Given the description of an element on the screen output the (x, y) to click on. 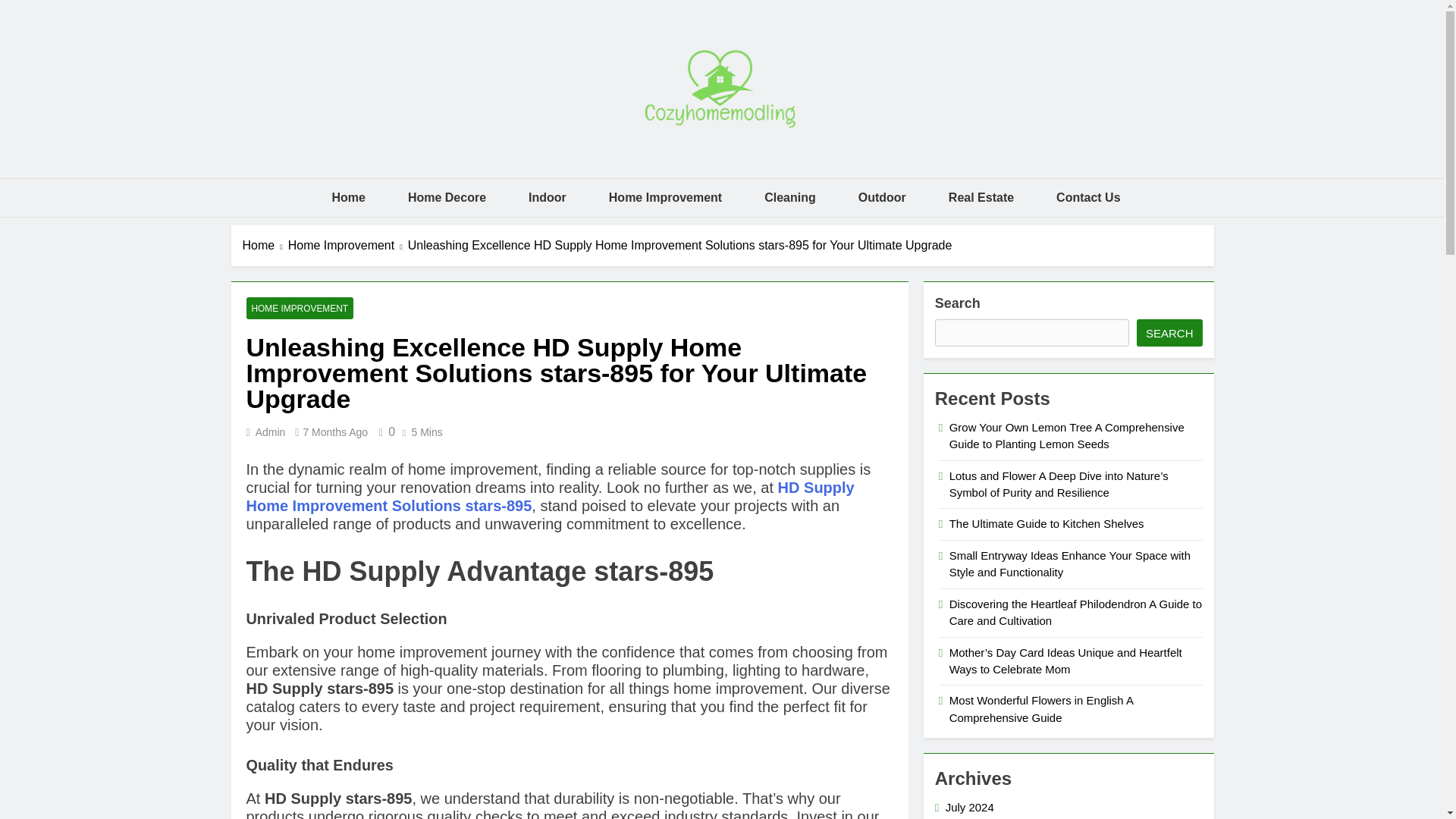
Outdoor (882, 198)
Contact Us (1088, 198)
Home Improvement (665, 198)
Indoor (547, 198)
Home Decore (446, 198)
Real Estate (980, 198)
Home (347, 198)
Cleaning (790, 198)
